Given the description of an element on the screen output the (x, y) to click on. 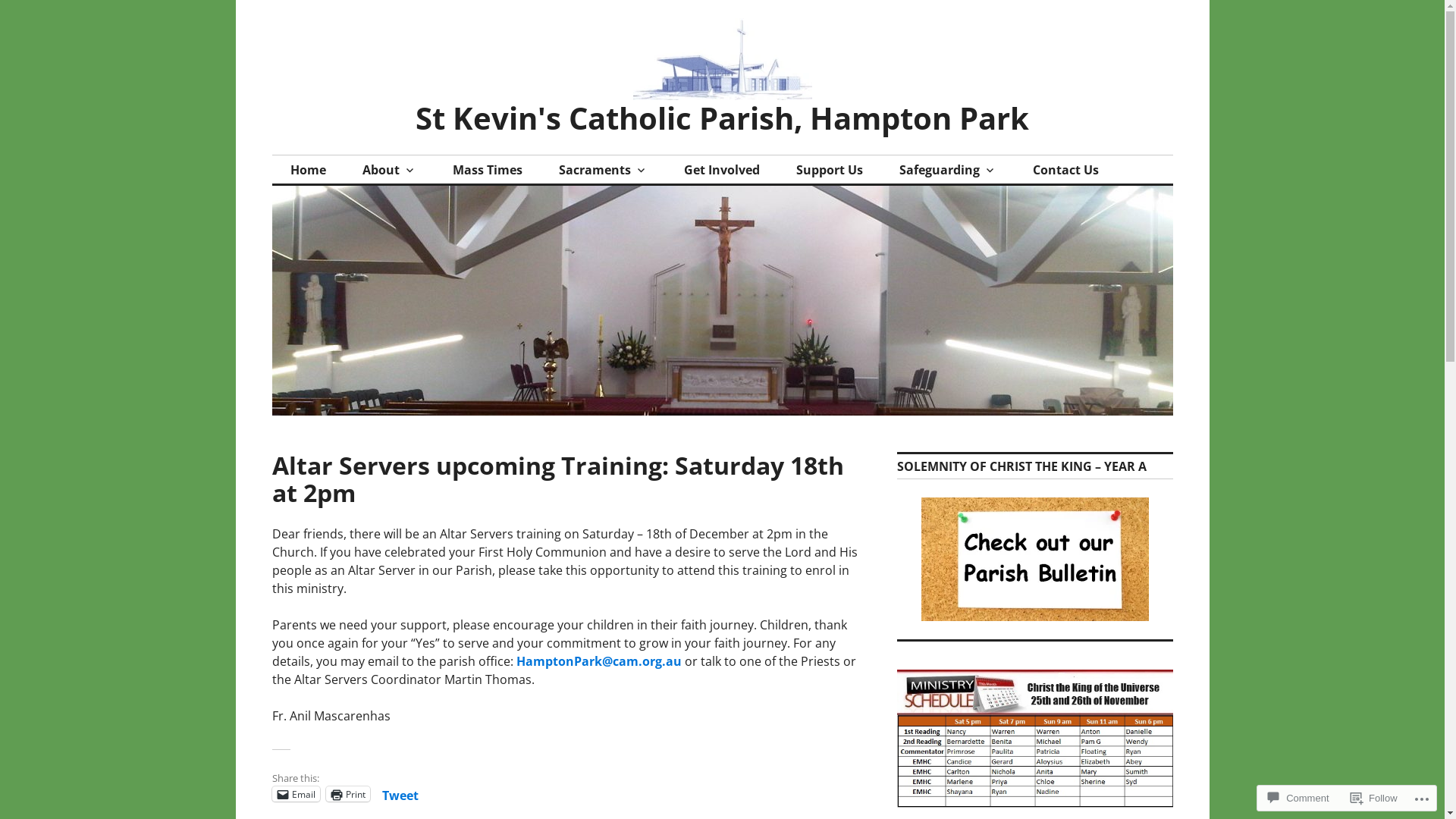
Tweet Element type: text (400, 793)
St Kevin's Catholic Parish, Hampton Park Element type: text (722, 117)
Get Involved Element type: text (721, 169)
Follow Element type: text (1373, 797)
Support Us Element type: text (829, 169)
Safeguarding Element type: text (947, 169)
Mass Times Element type: text (486, 169)
About Element type: text (389, 169)
Home Element type: text (307, 169)
21st Sunday in Ordinary Time - Year B Element type: hover (1034, 559)
Sacraments Element type: text (602, 169)
HamptonPark@cam.org.au Element type: text (597, 660)
Comment Element type: text (1297, 797)
Print Element type: text (348, 793)
Contact Us Element type: text (1065, 169)
Email Element type: text (295, 793)
